Given the description of an element on the screen output the (x, y) to click on. 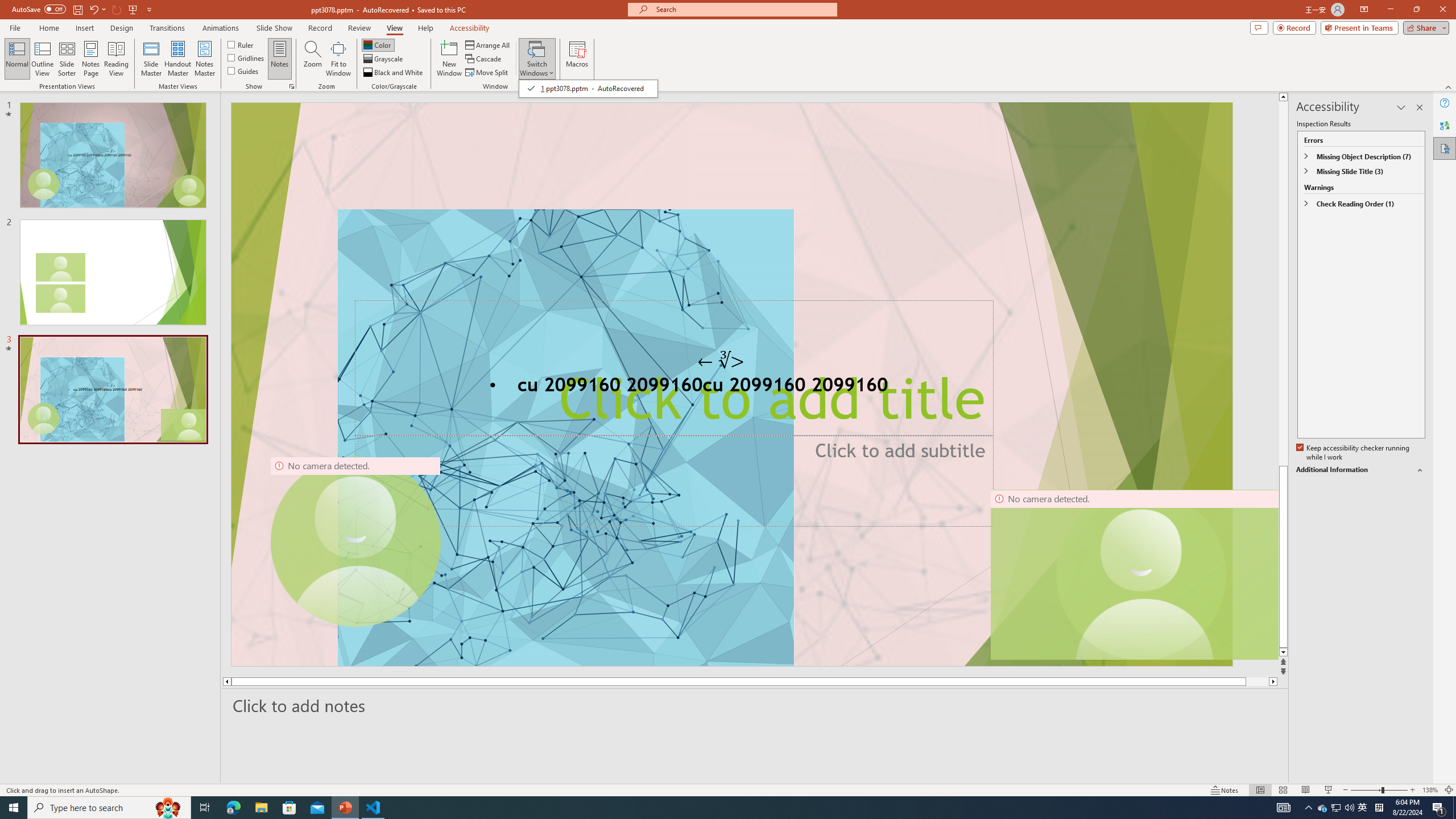
Action Center, 1 new notification (1439, 807)
Black and White (393, 72)
An abstract genetic concept (731, 384)
